Given the description of an element on the screen output the (x, y) to click on. 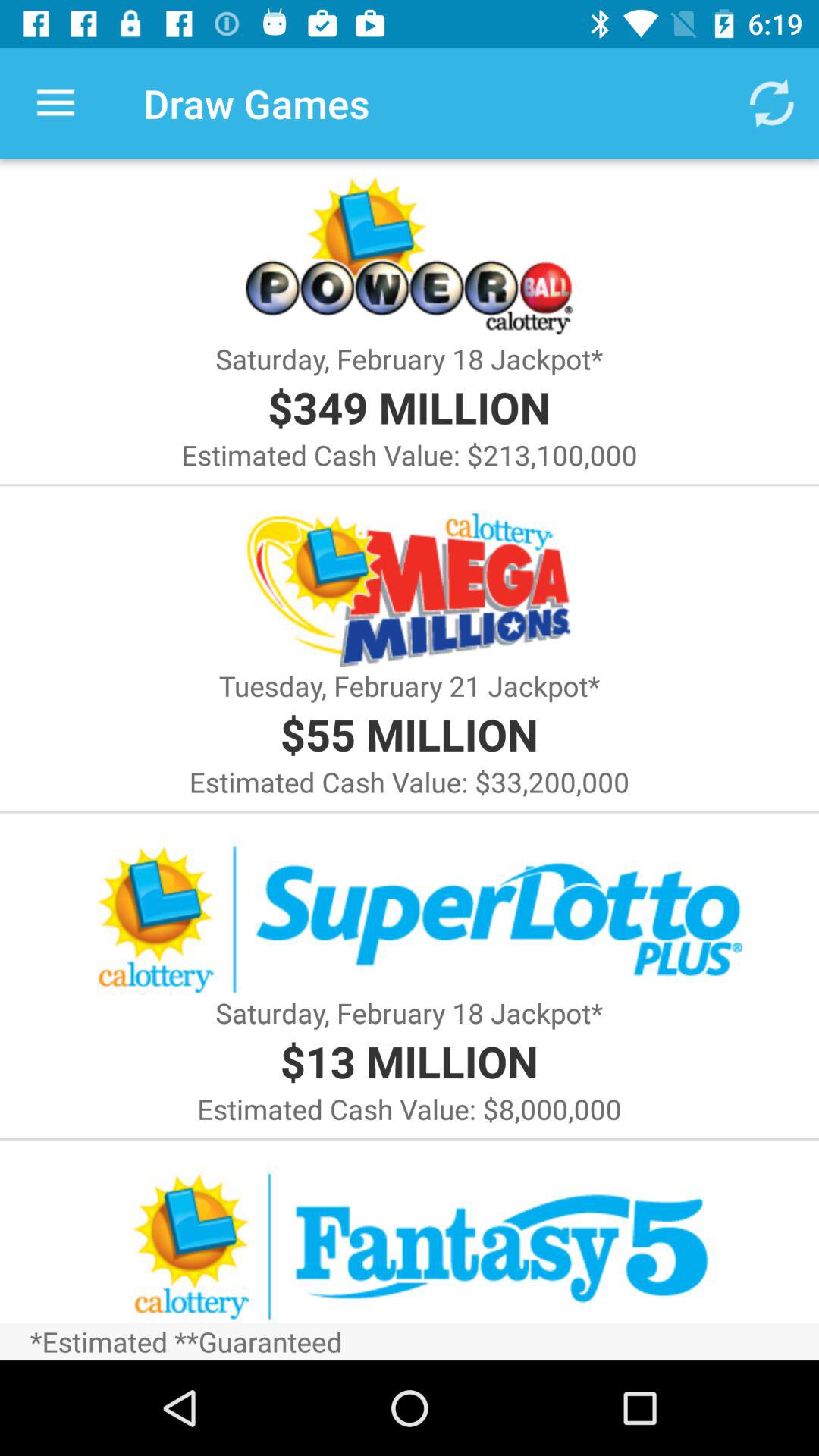
launch icon to the left of the draw games icon (55, 103)
